Given the description of an element on the screen output the (x, y) to click on. 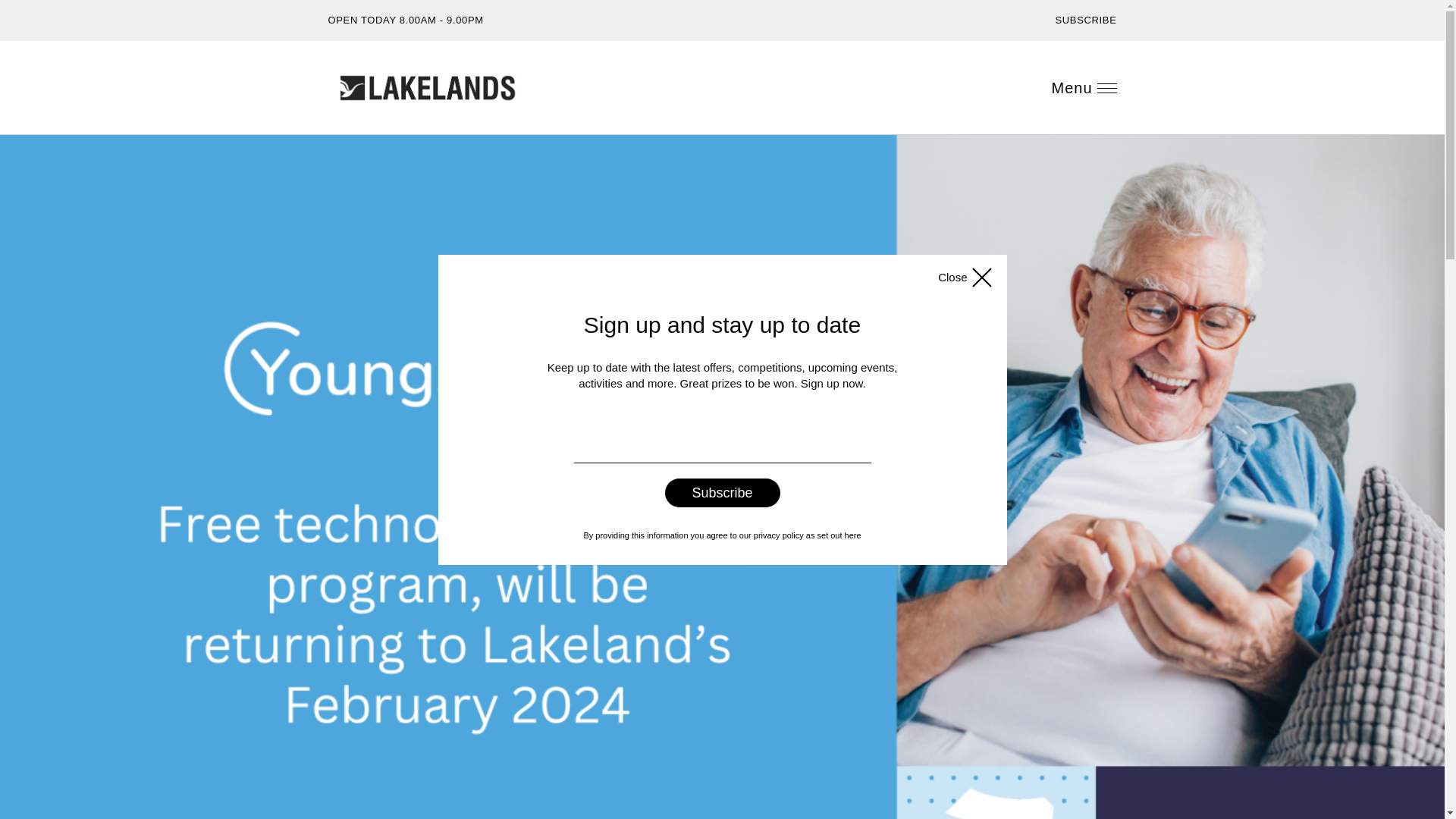
SUBSCRIBE Element type: text (1086, 20)
Close Element type: text (966, 277)
Subscribe Element type: text (1055, 58)
Next Element type: text (62, 144)
Submit Element type: text (1421, 115)
Previous Element type: text (23, 144)
Lakelands Element type: hover (426, 87)
Subscribe Element type: text (721, 491)
Menu Element type: text (1083, 87)
